Given the description of an element on the screen output the (x, y) to click on. 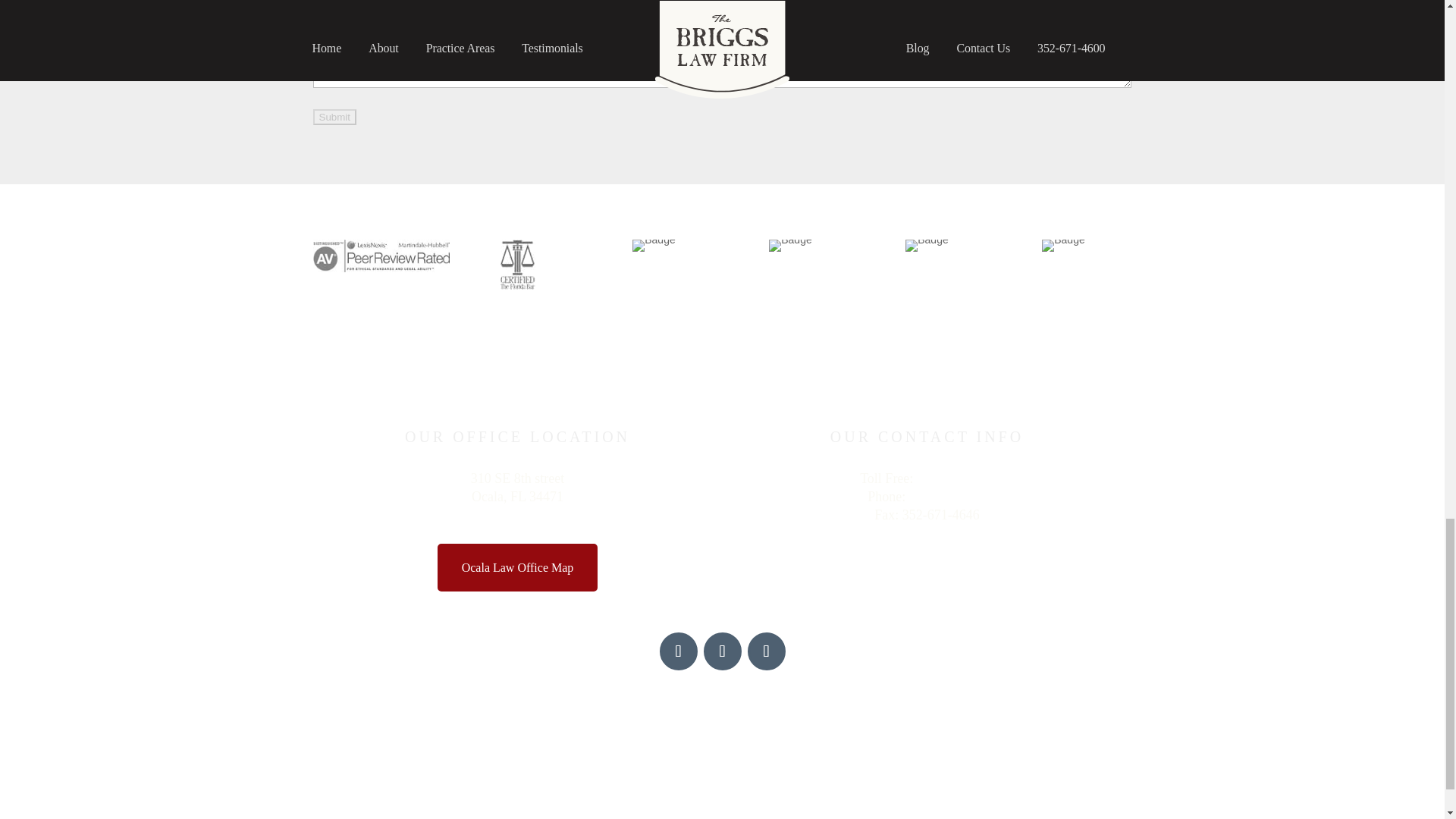
NBTA (789, 245)
the-florida-bar (653, 245)
Follow on X (767, 651)
Follow on Youtube (678, 651)
peer-review-rated (380, 255)
Submit (334, 116)
AVVO-Legal-Easier (926, 245)
Follow on Facebook (722, 651)
super-lawyers (1063, 245)
